Given the description of an element on the screen output the (x, y) to click on. 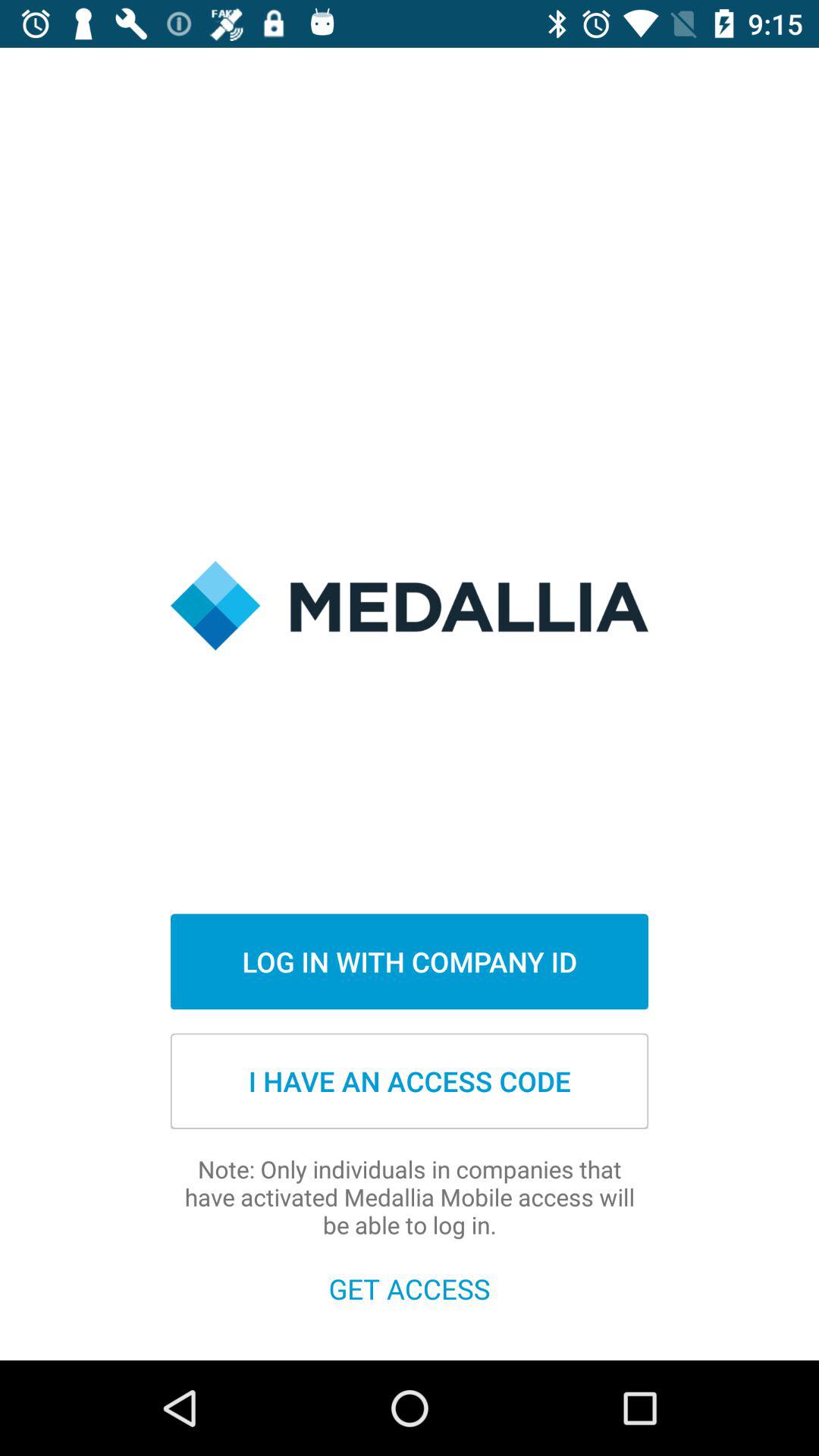
select i have an (409, 1080)
